Given the description of an element on the screen output the (x, y) to click on. 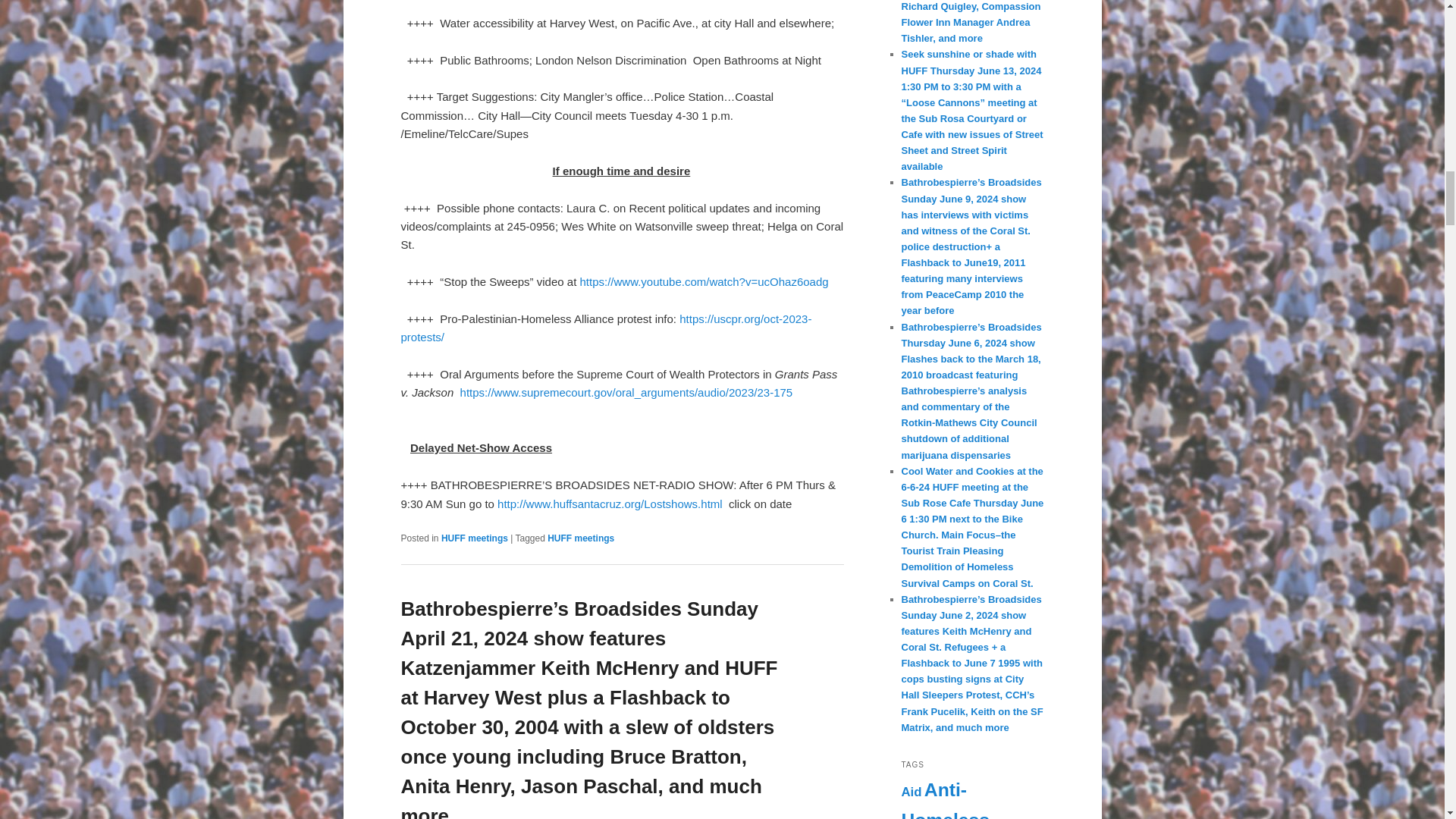
HUFF meetings (580, 538)
HUFF meetings (474, 538)
huff (562, 503)
